Given the description of an element on the screen output the (x, y) to click on. 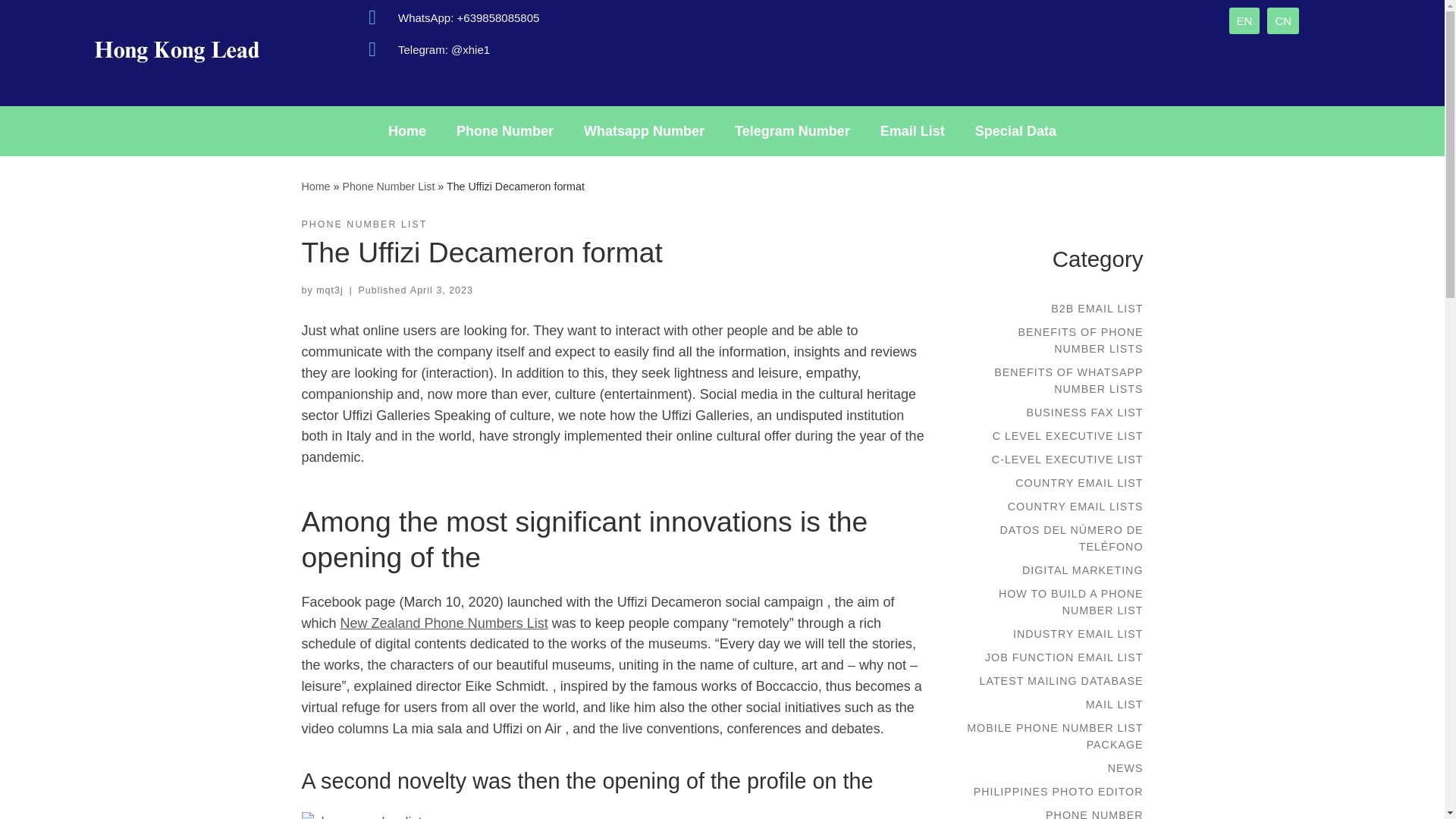
Home (406, 130)
EN (1244, 20)
View all posts by mqt3j (329, 290)
April 3, 2023 (441, 290)
Whatsapp Number (644, 130)
Phone Number List (387, 186)
View all posts in Phone Number List (364, 224)
New Zealand Phone Numbers List (444, 622)
Phone Number List (387, 186)
Hong Kong Lead (315, 186)
